Given the description of an element on the screen output the (x, y) to click on. 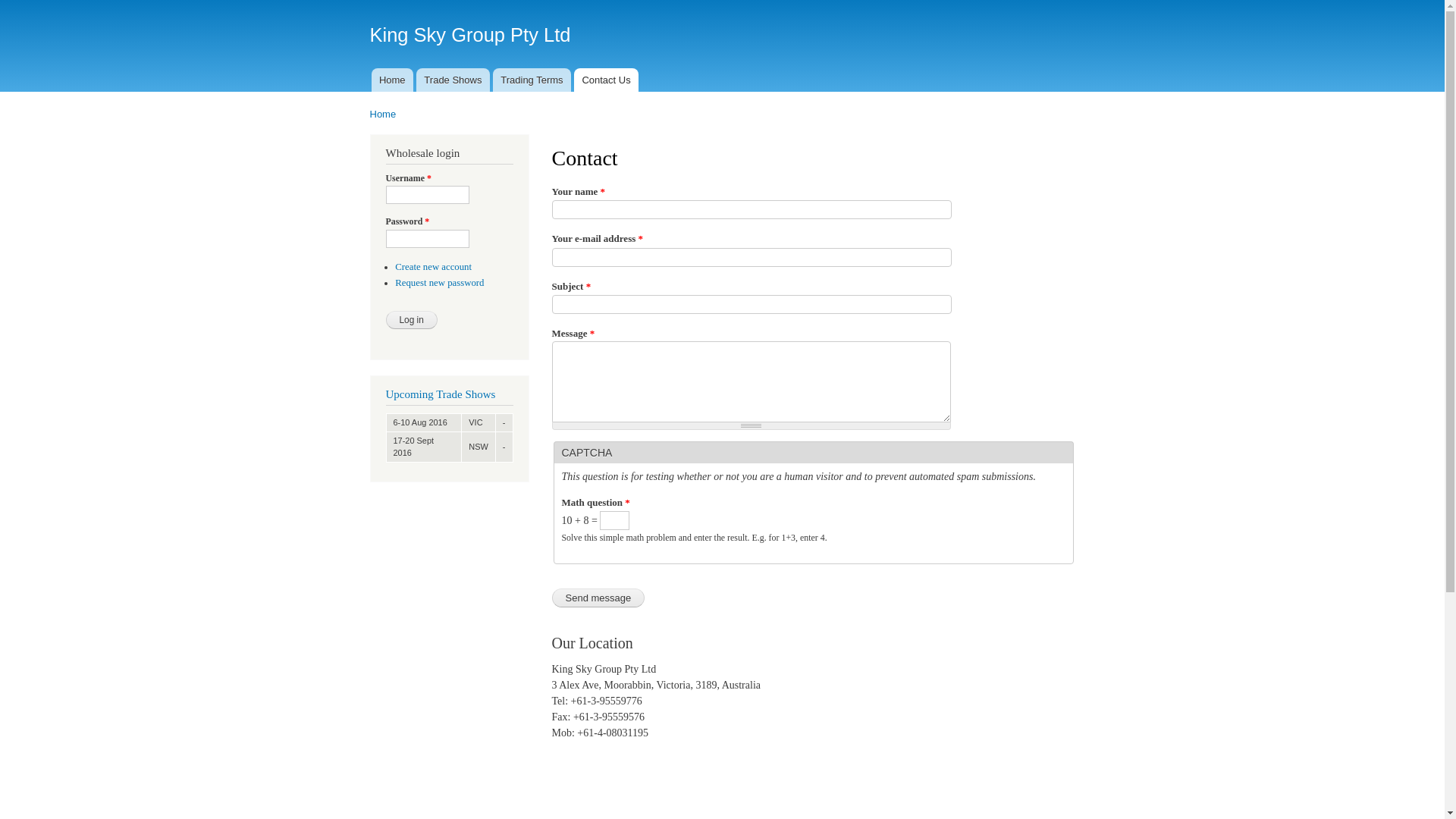
Contact Us Element type: text (606, 79)
Skip to main content Element type: text (690, 1)
Send message Element type: text (598, 597)
Request new password Element type: text (439, 282)
Trading Terms Element type: text (531, 79)
Home Element type: text (383, 113)
Create new account Element type: text (433, 266)
Log in Element type: text (410, 319)
Home Element type: text (392, 79)
King Sky Group Pty Ltd Element type: text (470, 34)
Trade Shows Element type: text (452, 79)
Upcoming Trade Shows Element type: text (440, 394)
